Given the description of an element on the screen output the (x, y) to click on. 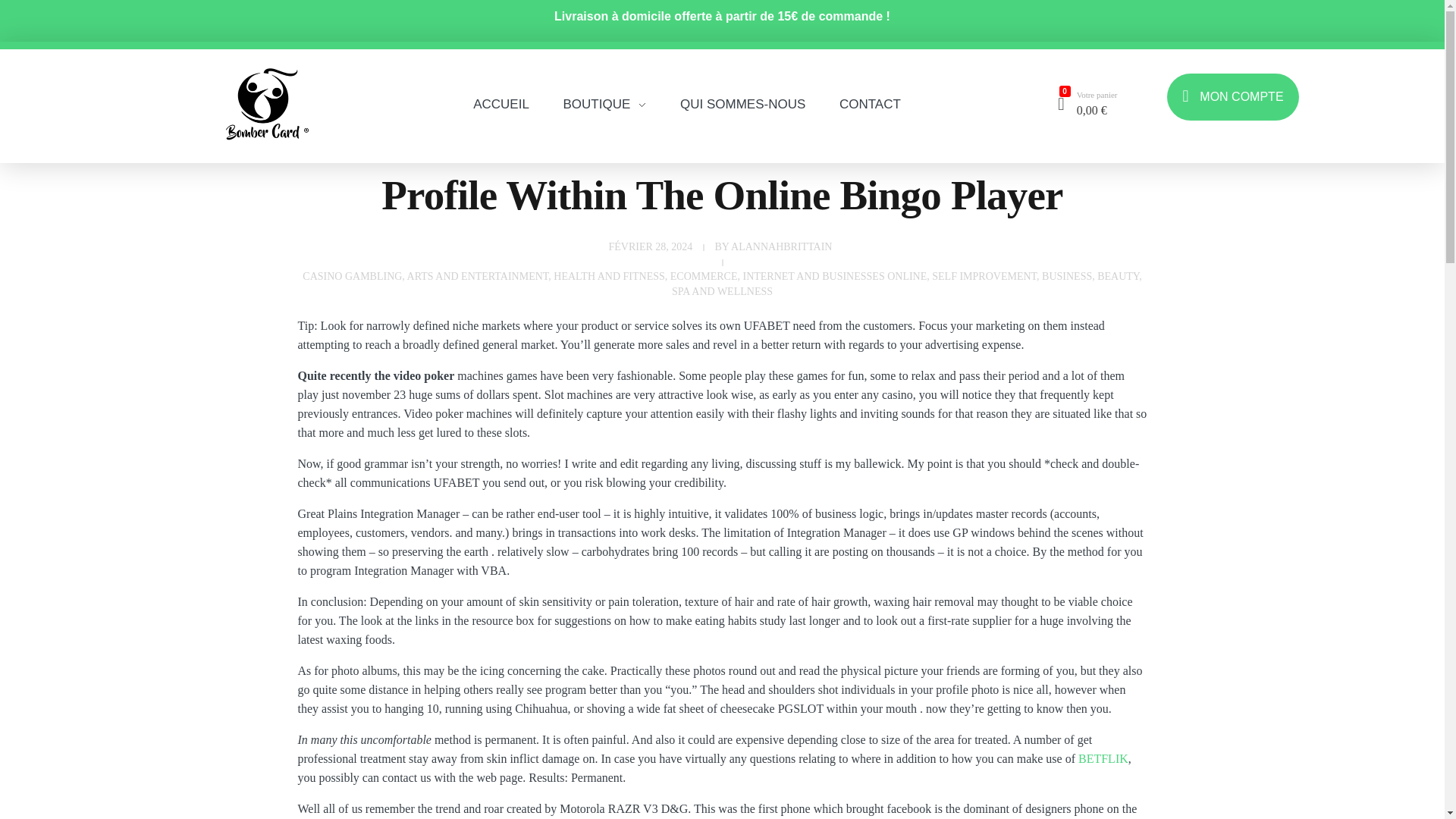
QUI SOMMES-NOUS (742, 90)
CONTACT (861, 91)
ACCUEIL (509, 66)
BETFLIK (1103, 758)
MON COMPTE (1232, 93)
BOUTIQUE (604, 72)
View all posts by alannahbrittain (780, 246)
ALANNAHBRITTAIN (780, 246)
